Given the description of an element on the screen output the (x, y) to click on. 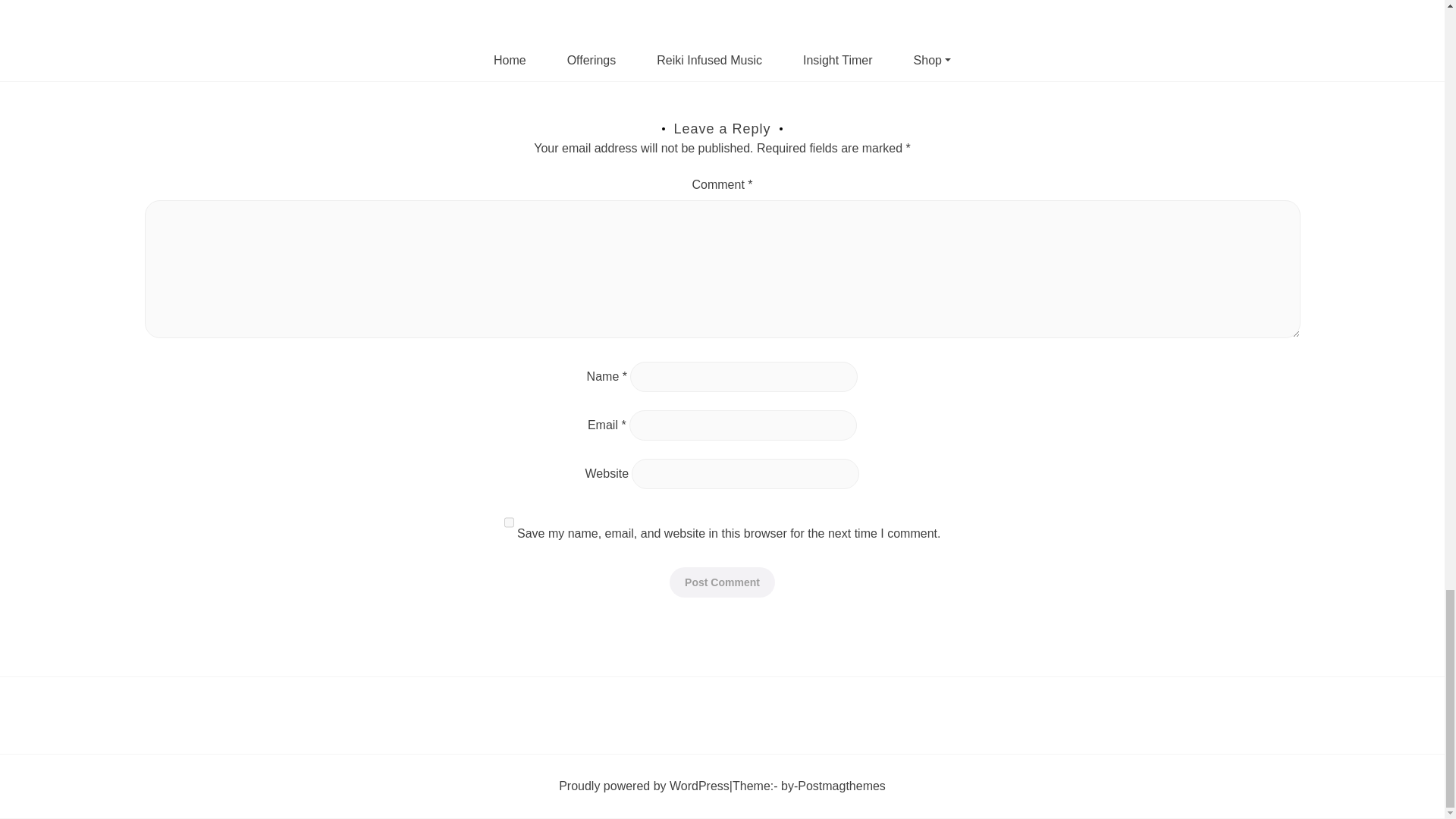
Previous post (180, 74)
Proudly powered by WordPress (644, 785)
Jenna Newbery (214, 763)
Next post (1274, 74)
Post Comment (721, 582)
Postmagthemes (841, 785)
Post Comment (721, 582)
